Given the description of an element on the screen output the (x, y) to click on. 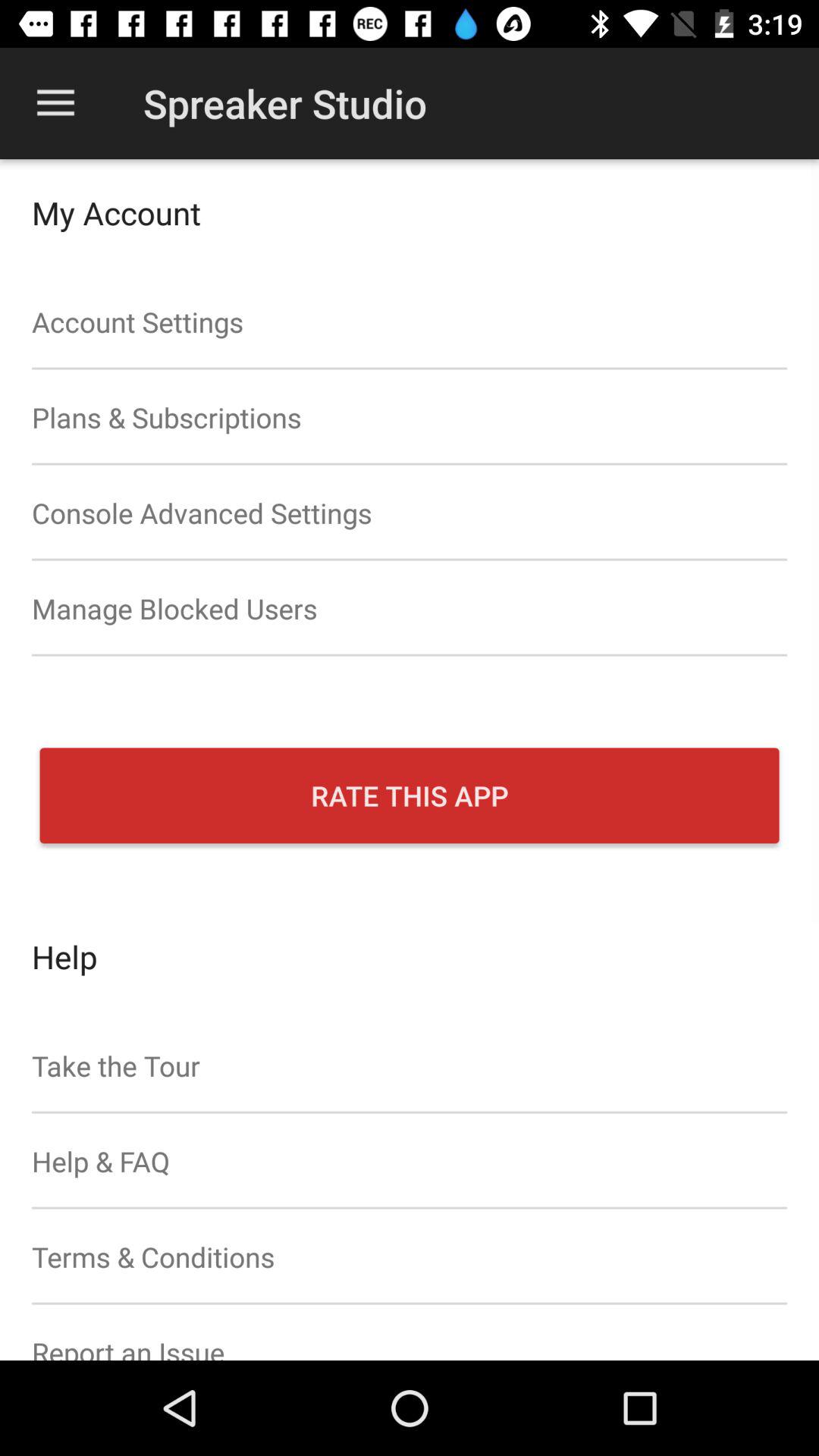
open the item below the plans & subscriptions (409, 512)
